Given the description of an element on the screen output the (x, y) to click on. 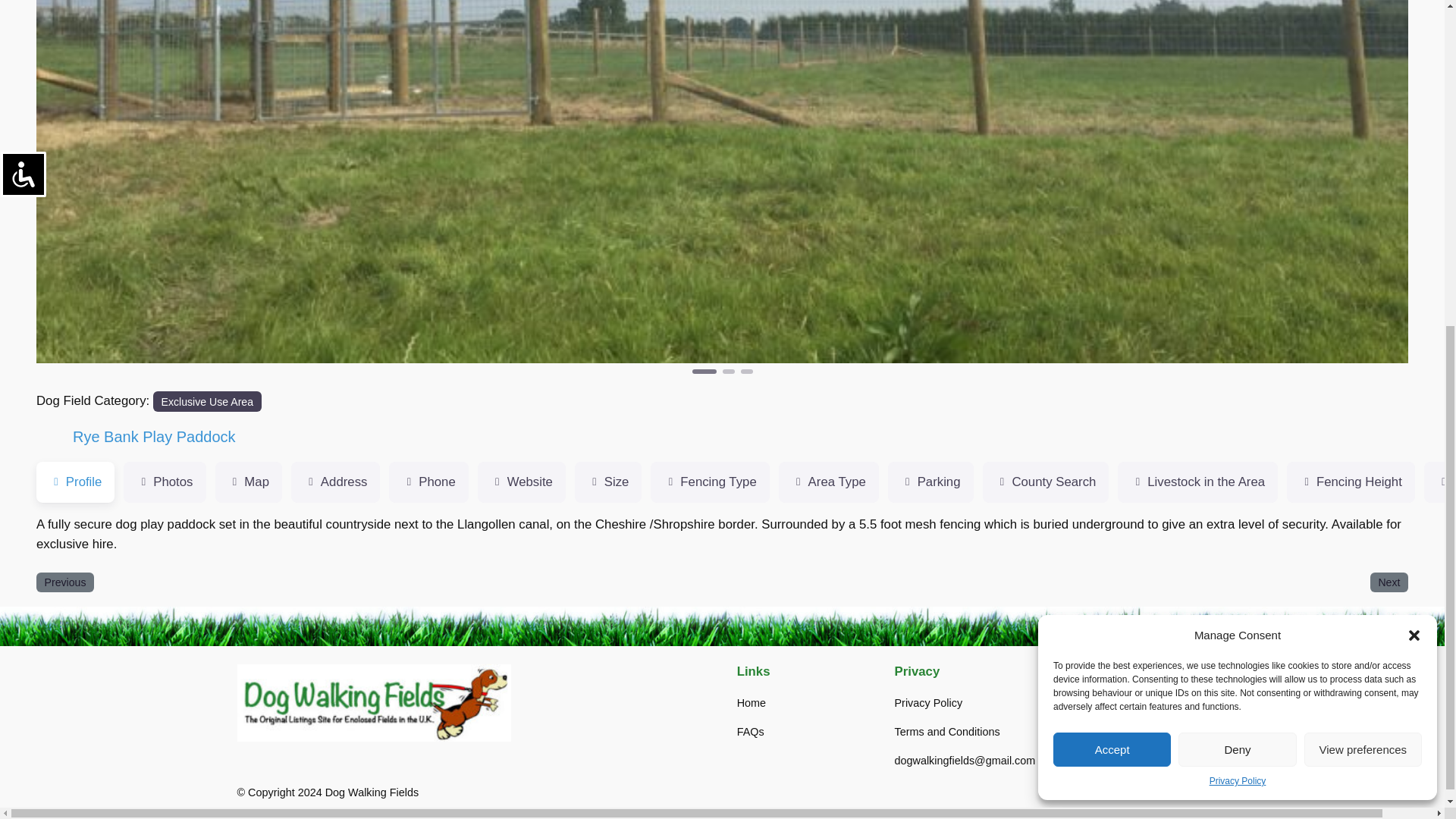
Fencing Type (709, 481)
Photos (164, 481)
Address (335, 481)
Phone (427, 481)
Area Type (828, 481)
Accept (1111, 201)
Fencing Height (1351, 481)
Address (335, 481)
Livestock in the Area (1198, 481)
Rye Bank Play Paddock (153, 436)
County Search (1045, 481)
Privacy Policy (1237, 233)
Fencing Type (709, 481)
Parking (931, 481)
Size (608, 481)
